Given the description of an element on the screen output the (x, y) to click on. 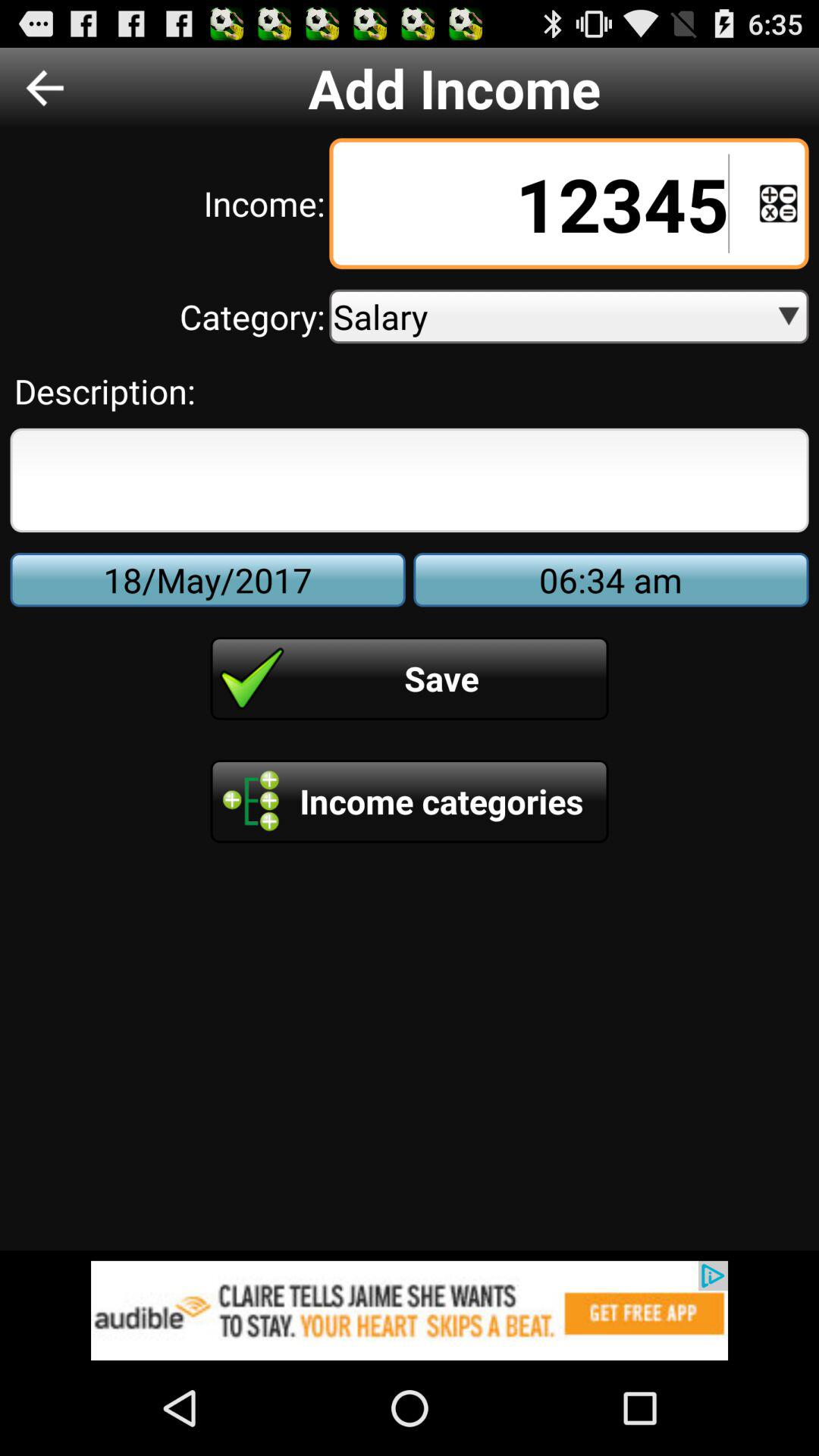
go back to previous screen (44, 87)
